Given the description of an element on the screen output the (x, y) to click on. 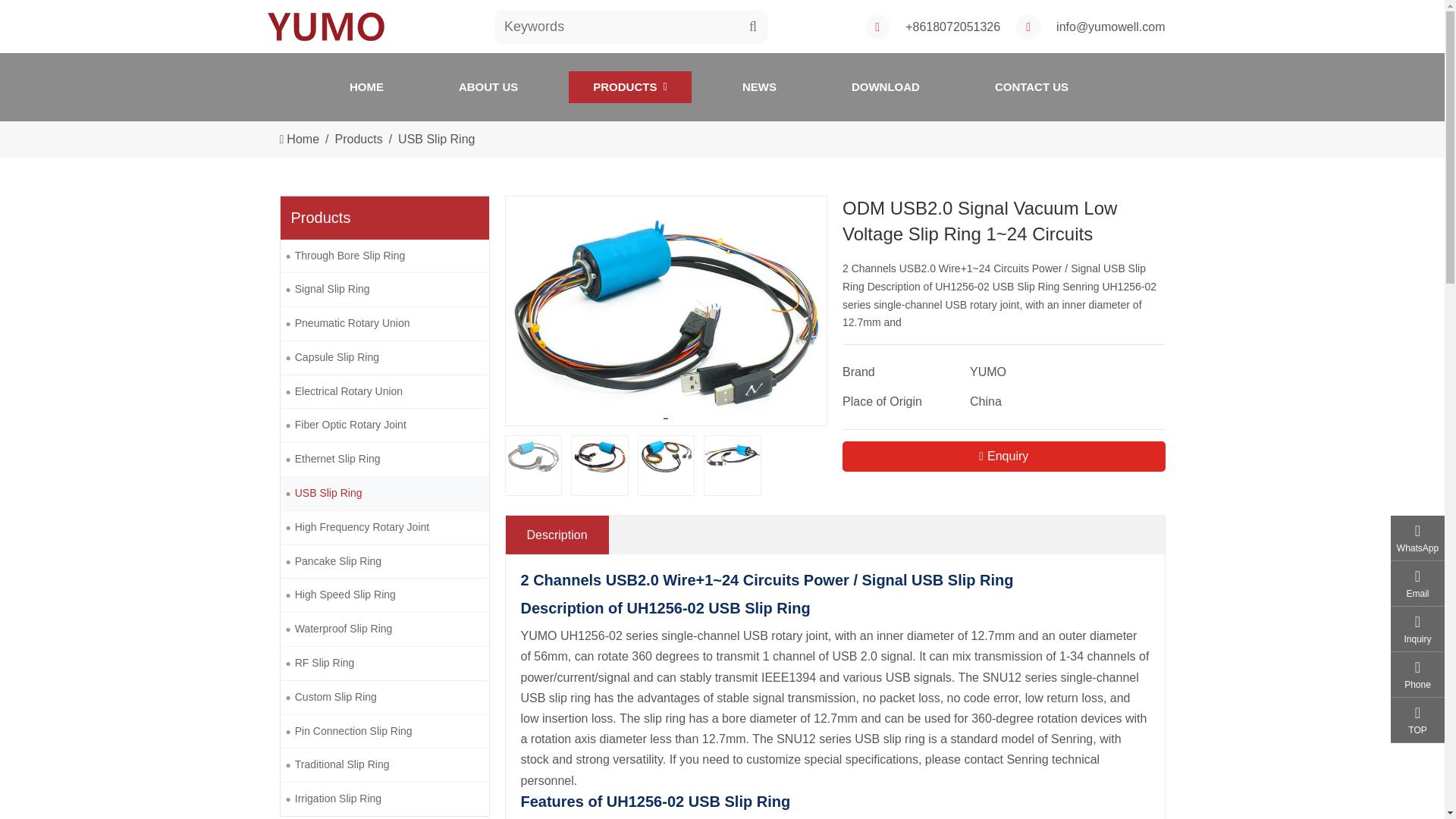
Hover to zoom (666, 310)
HOME (365, 87)
Home (302, 137)
Products (357, 137)
USB Slip Ring (721, 87)
Enquiry (435, 137)
PRODUCTS (1004, 456)
NEWS (630, 87)
DOWNLOAD (758, 87)
CONTACT US (885, 87)
ABOUT US (1032, 87)
